Given the description of an element on the screen output the (x, y) to click on. 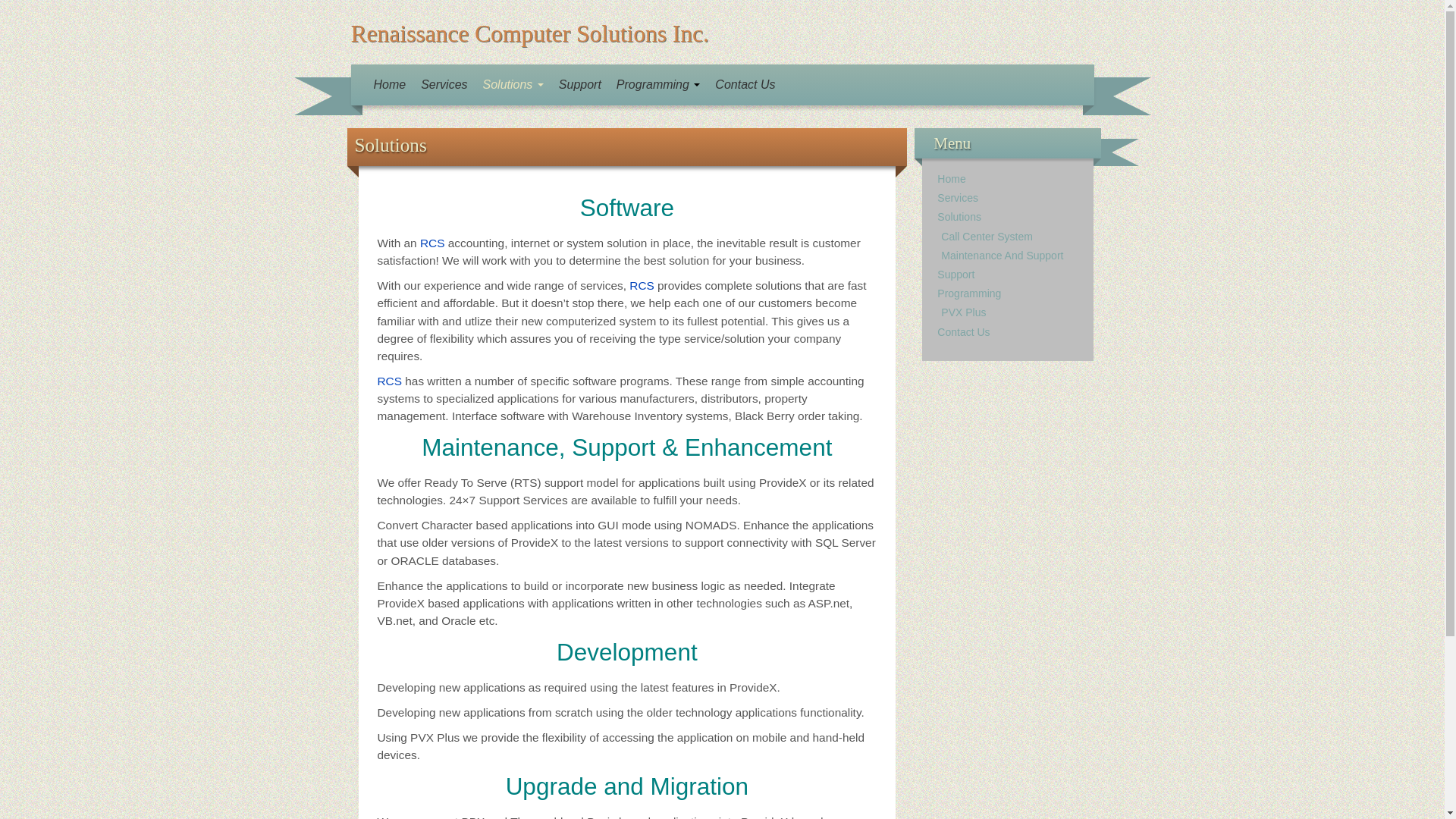
Programming (969, 293)
Support (955, 274)
Renaissance Computer Solutions Inc. (528, 33)
Contact Us (963, 331)
Solutions (959, 216)
Services (443, 84)
Services (957, 197)
Contact Us (745, 84)
Renaissance Computer Solutions Inc. (528, 33)
Home (389, 84)
